Given the description of an element on the screen output the (x, y) to click on. 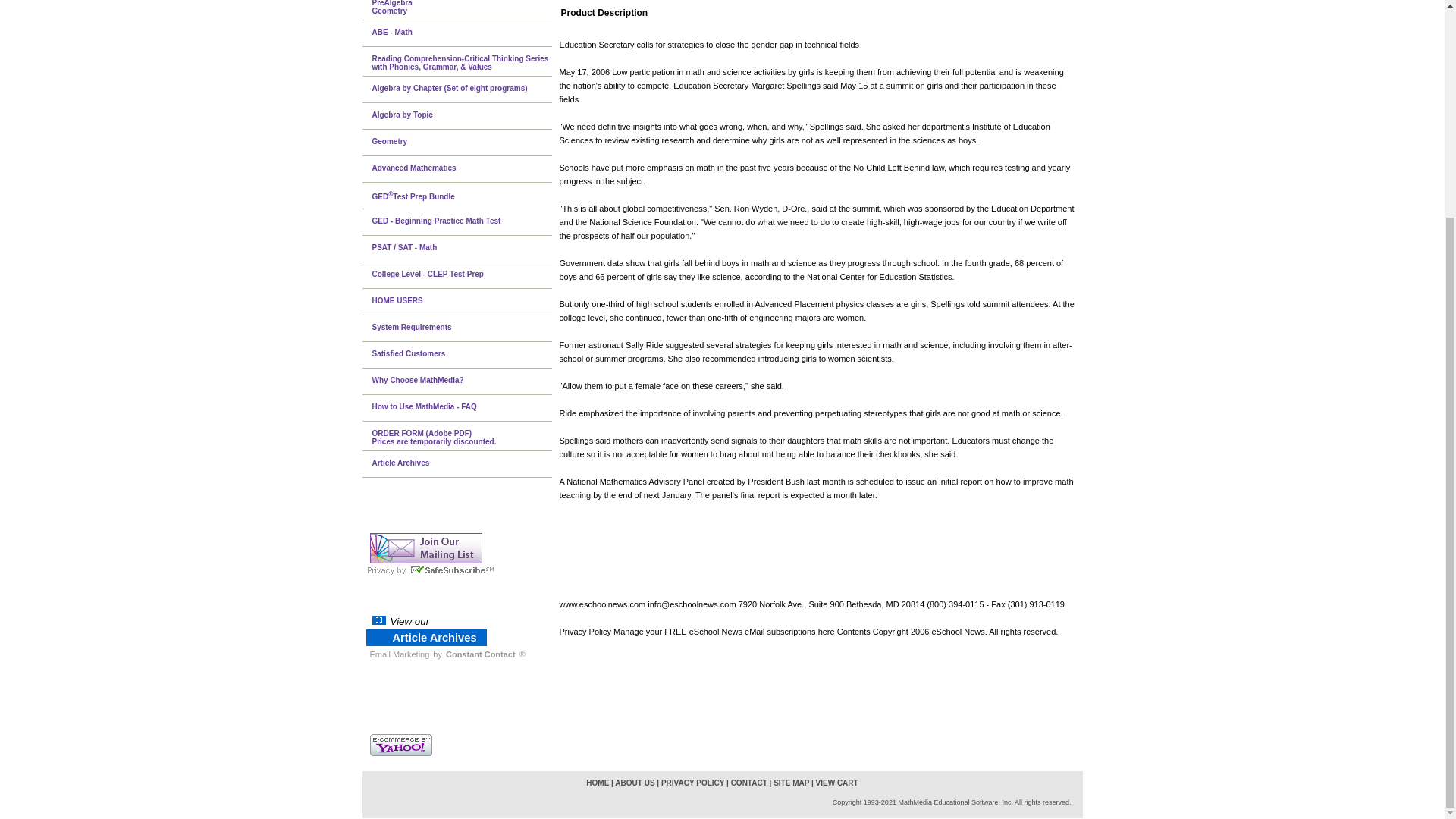
System Requirements (463, 328)
Satisfied Customers (463, 355)
System Requirements (463, 328)
Email Marketing (398, 654)
College Level - CLEP Test  Prep (463, 275)
Article Archives (463, 464)
Algebra by Topic (463, 116)
Advanced Mathematics (463, 169)
How to Use MathMedia - FAQ (463, 407)
Article Archives (434, 637)
ABE - Math (463, 33)
View our (410, 620)
HOME (597, 782)
Geometry (463, 142)
